Given the description of an element on the screen output the (x, y) to click on. 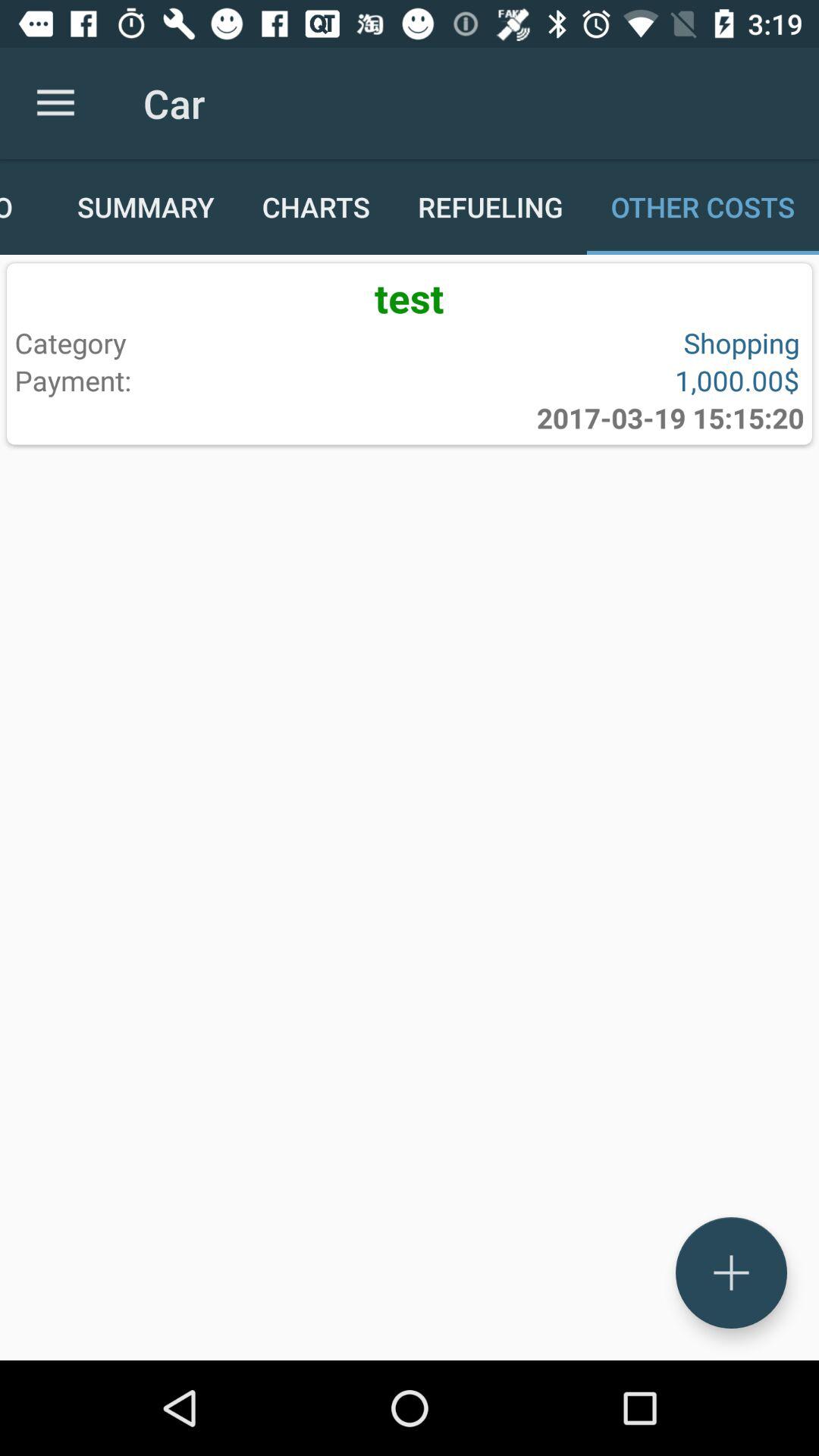
press the shopping (601, 342)
